Given the description of an element on the screen output the (x, y) to click on. 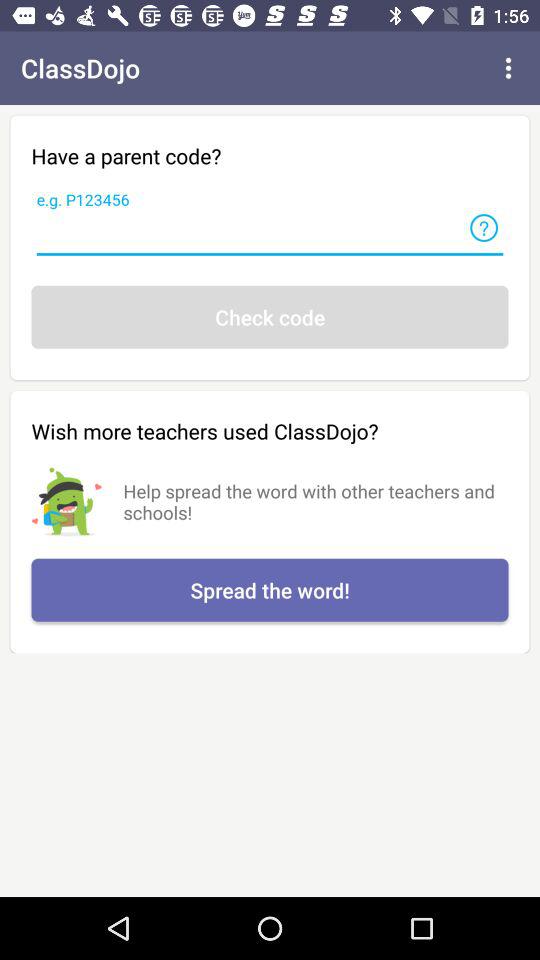
see menu options (508, 67)
